Given the description of an element on the screen output the (x, y) to click on. 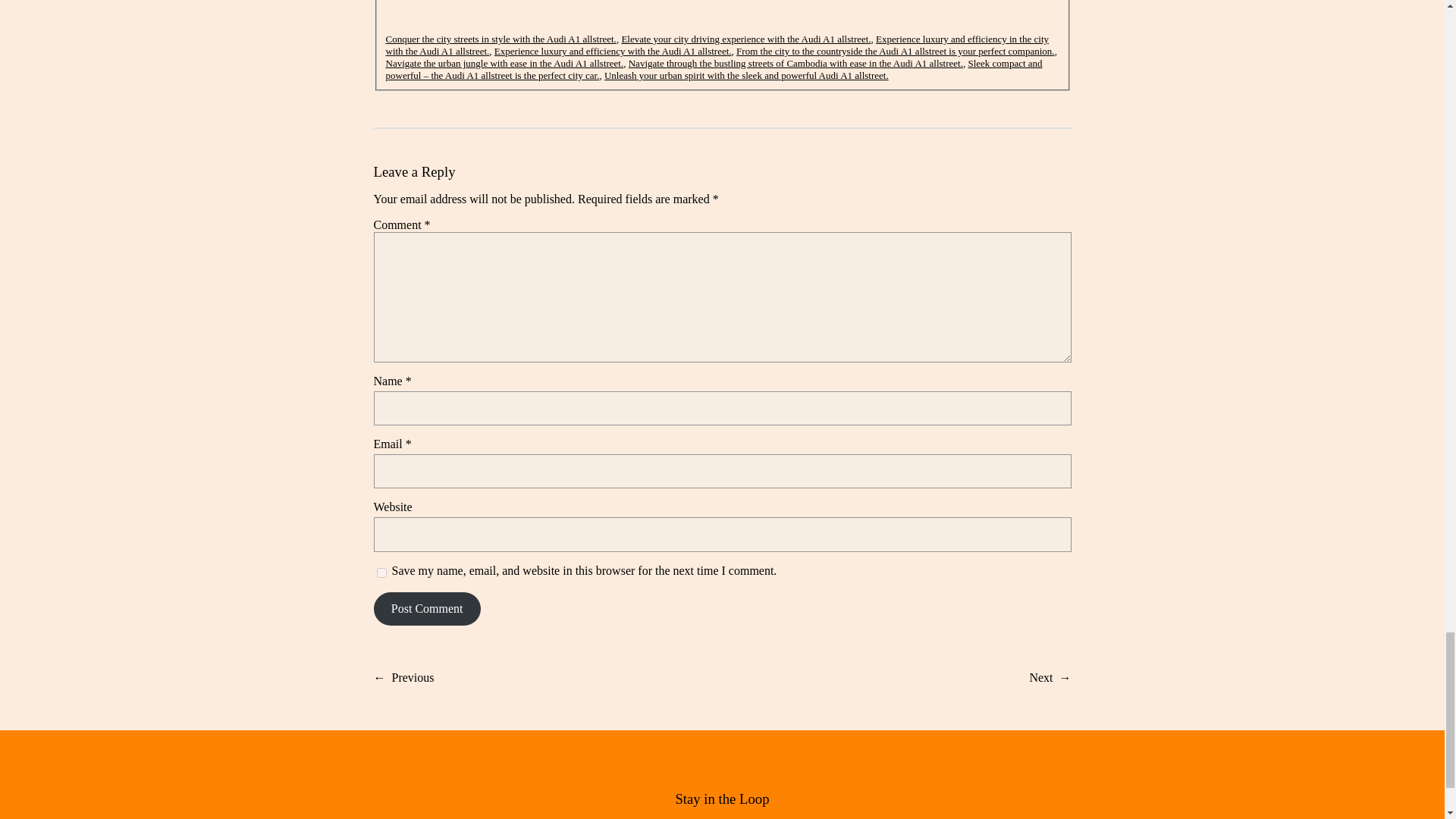
yes (380, 573)
Post Comment (426, 608)
